Given the description of an element on the screen output the (x, y) to click on. 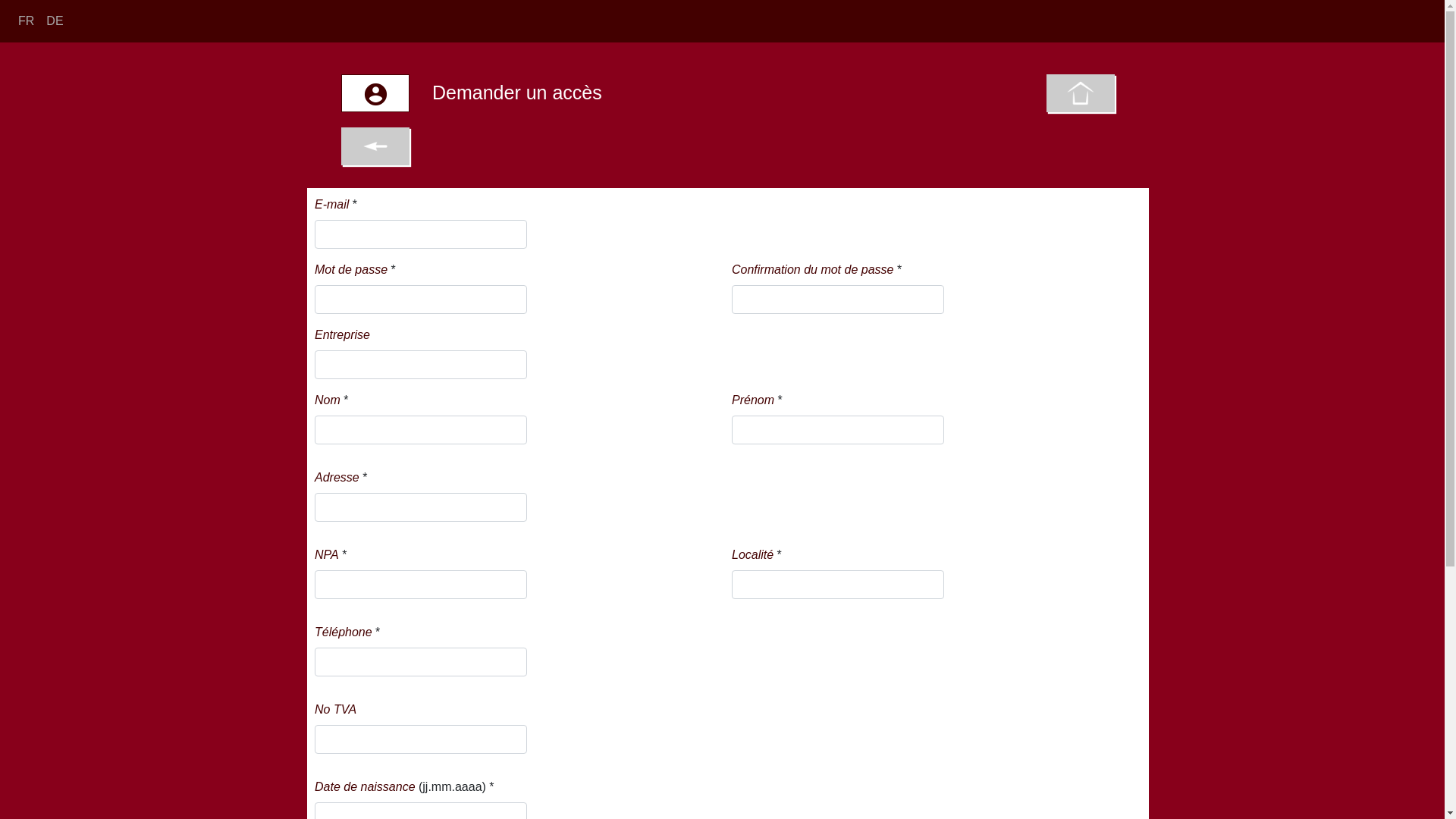
FR Element type: text (26, 21)
Accueil Element type: hover (1080, 93)
DE Element type: text (54, 21)
